Given the description of an element on the screen output the (x, y) to click on. 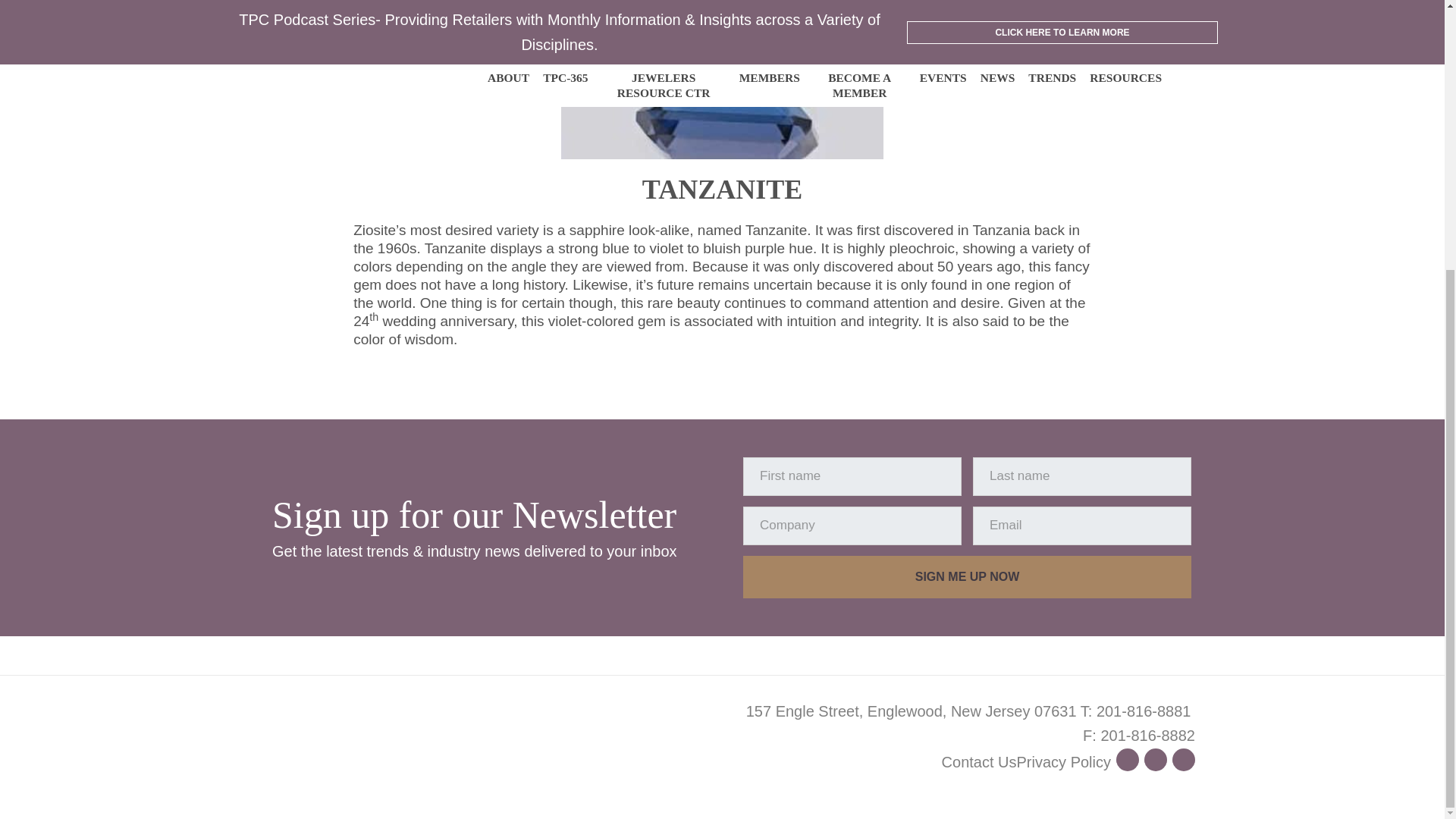
Privacy Policy (1063, 761)
SIGN ME UP NOW (966, 577)
201-816-8881 (1143, 710)
Contact Us (979, 761)
